Given the description of an element on the screen output the (x, y) to click on. 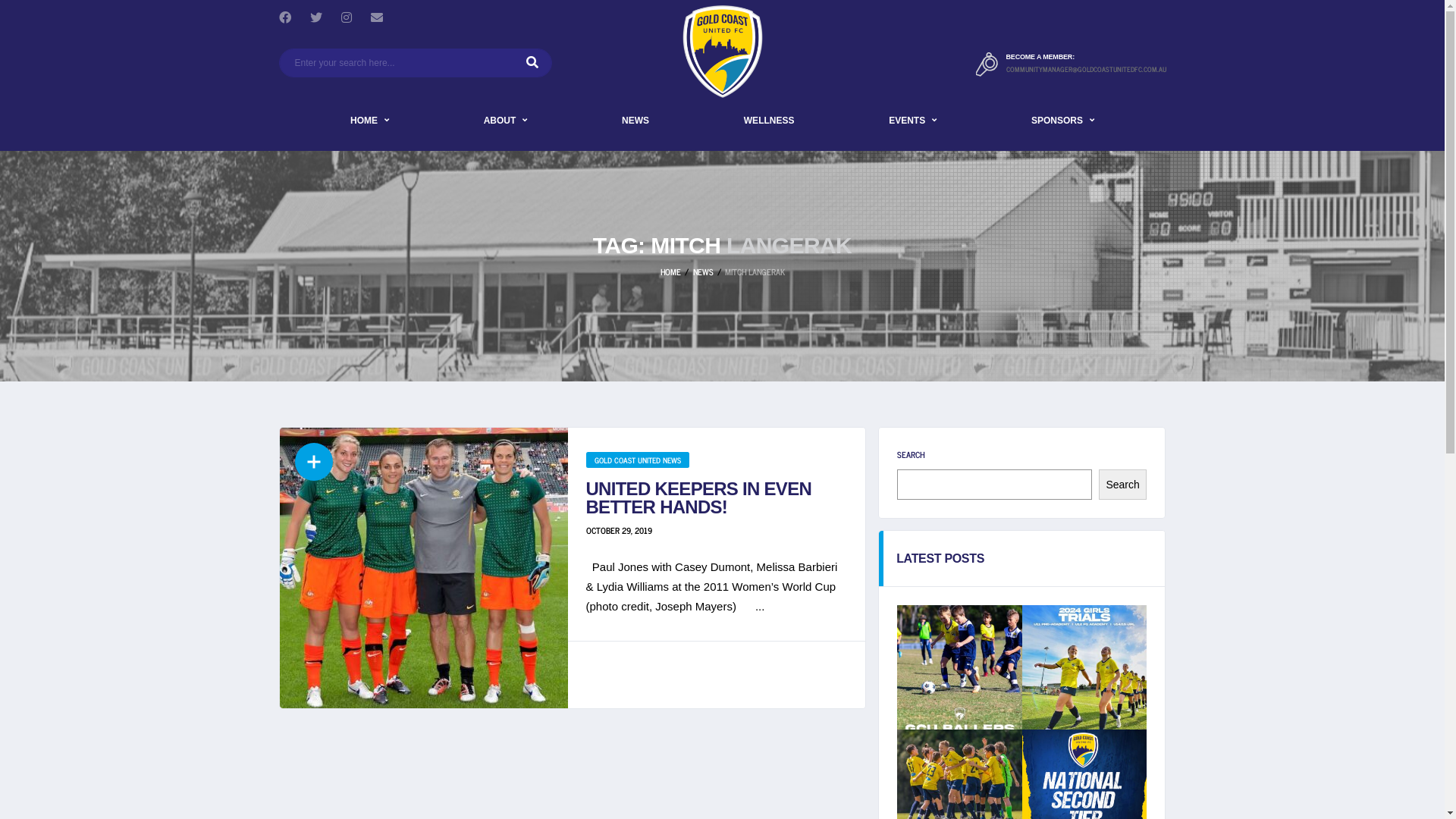
NEWS Element type: text (635, 120)
COMMUNITYMANAGER@GOLDCOASTUNITEDFC.COM.AU Element type: text (1085, 69)
NEWS Element type: text (703, 271)
SPONSORS Element type: text (1062, 120)
WELLNESS Element type: text (769, 120)
UNITED KEEPERS IN EVEN BETTER HANDS! Element type: text (698, 497)
Search Element type: text (1122, 484)
HOME Element type: text (369, 120)
EVENTS Element type: text (912, 120)
HOME Element type: text (670, 271)
OCTOBER 29, 2019 Element type: text (618, 529)
ABOUT Element type: text (505, 120)
